Given the description of an element on the screen output the (x, y) to click on. 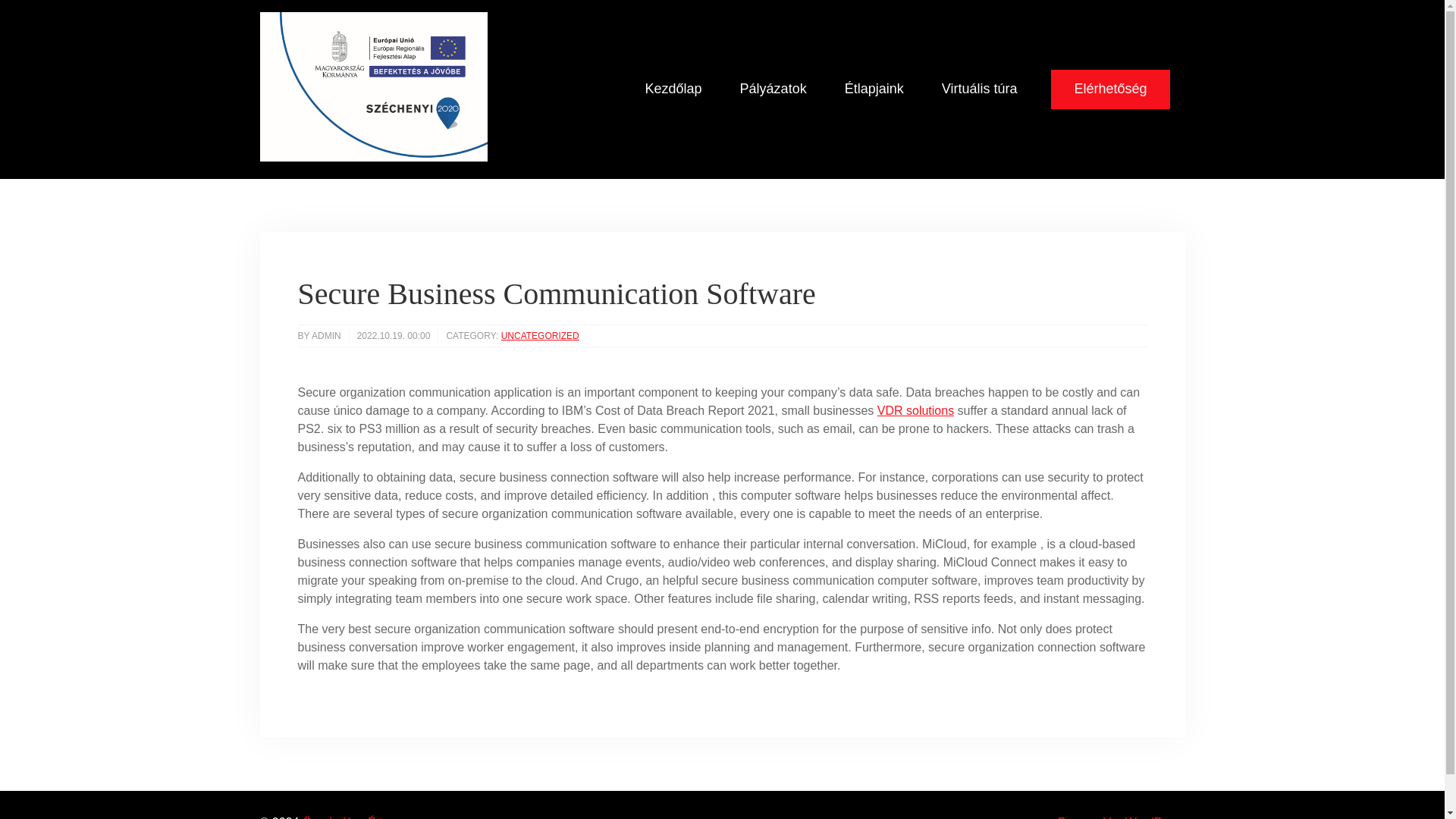
UNCATEGORIZED (539, 335)
Powered by WordPress (1121, 817)
VDR solutions (915, 410)
